Given the description of an element on the screen output the (x, y) to click on. 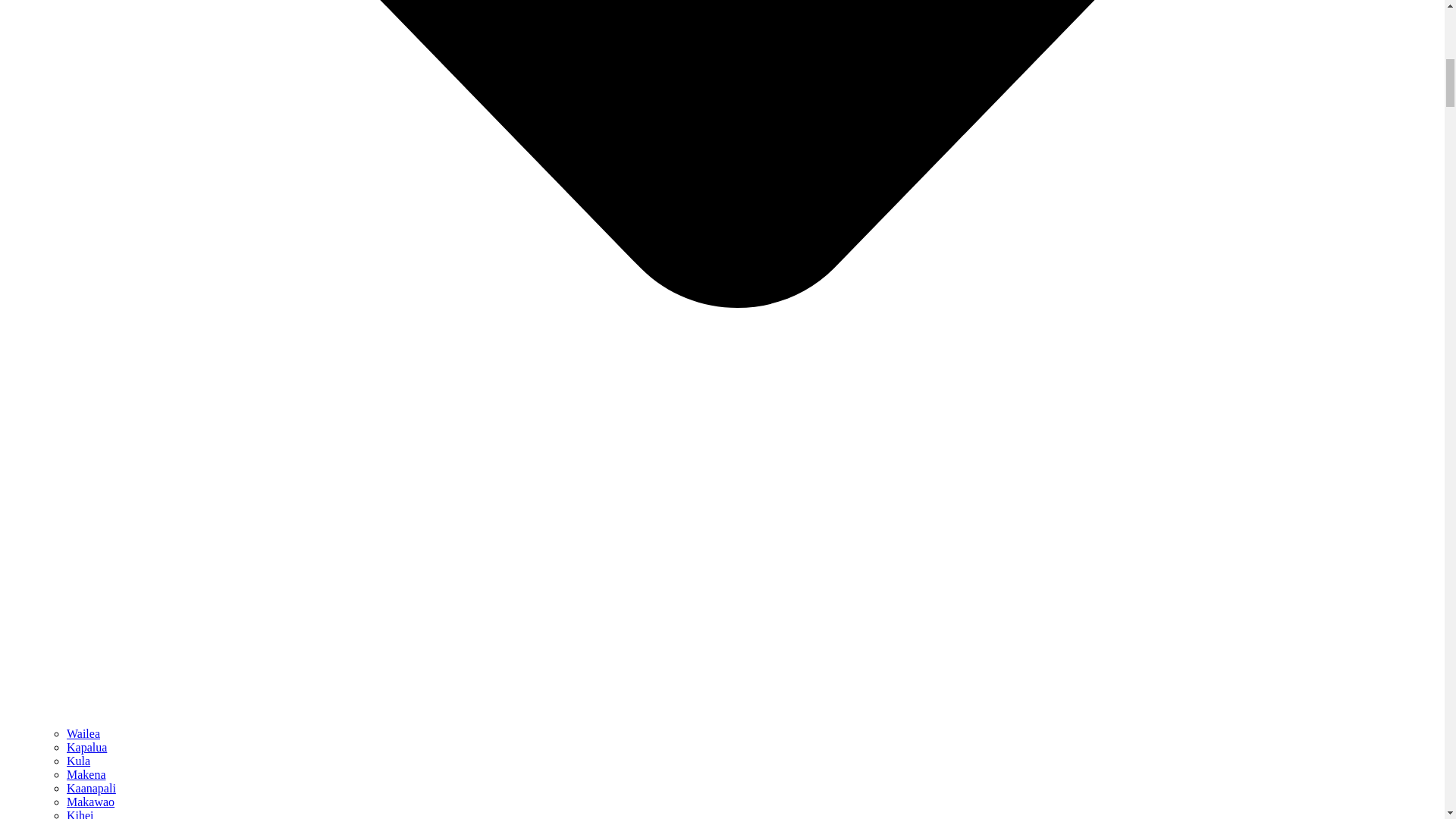
Kapalua (86, 747)
Wailea (83, 733)
Kihei (80, 814)
Kaanapali (91, 788)
Kula (78, 760)
Makena (86, 774)
Makawao (90, 801)
